Given the description of an element on the screen output the (x, y) to click on. 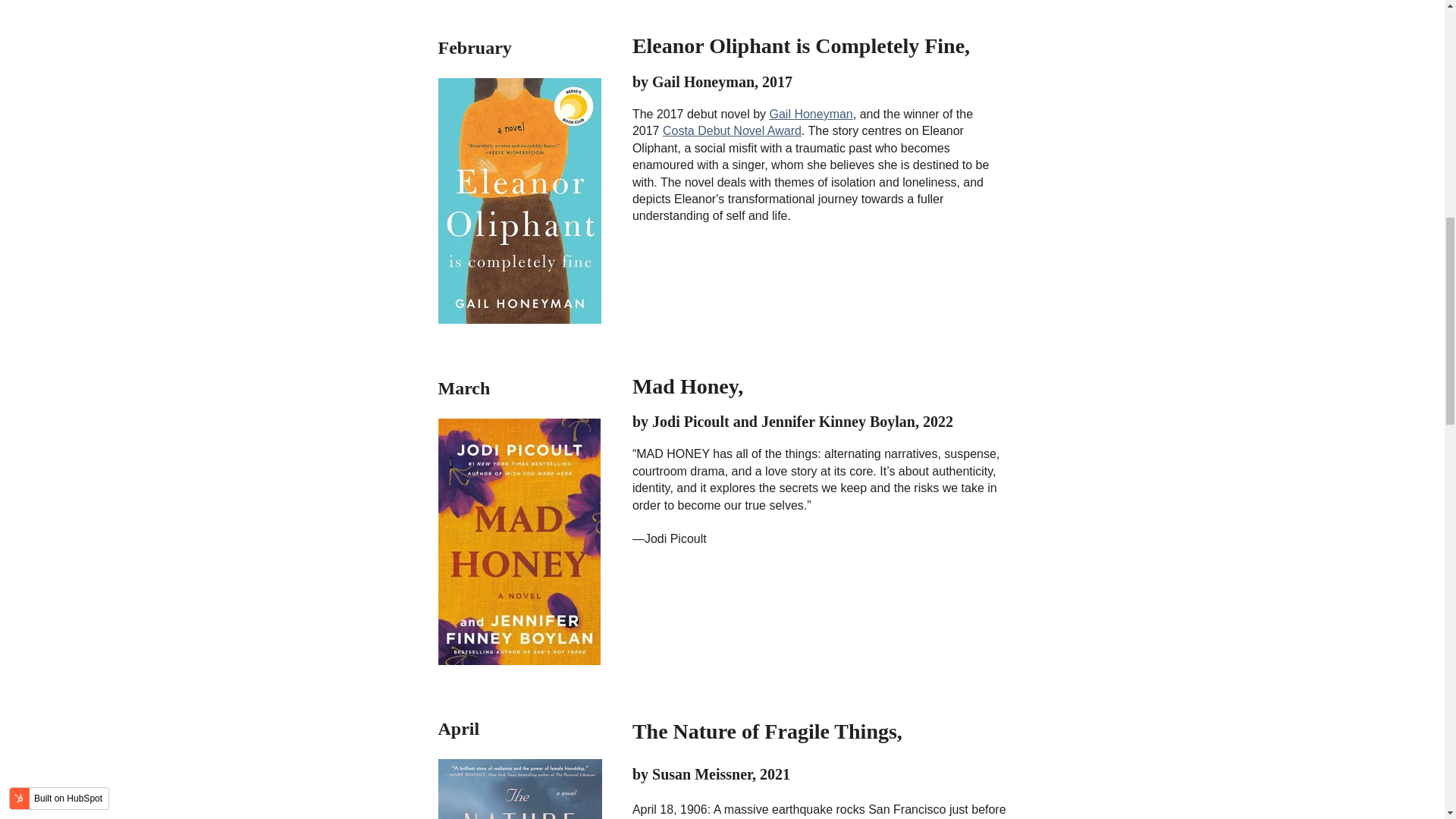
Gail Honeyman (809, 113)
Costa Debut Novel Award (732, 130)
9780451492197 (520, 789)
